Given the description of an element on the screen output the (x, y) to click on. 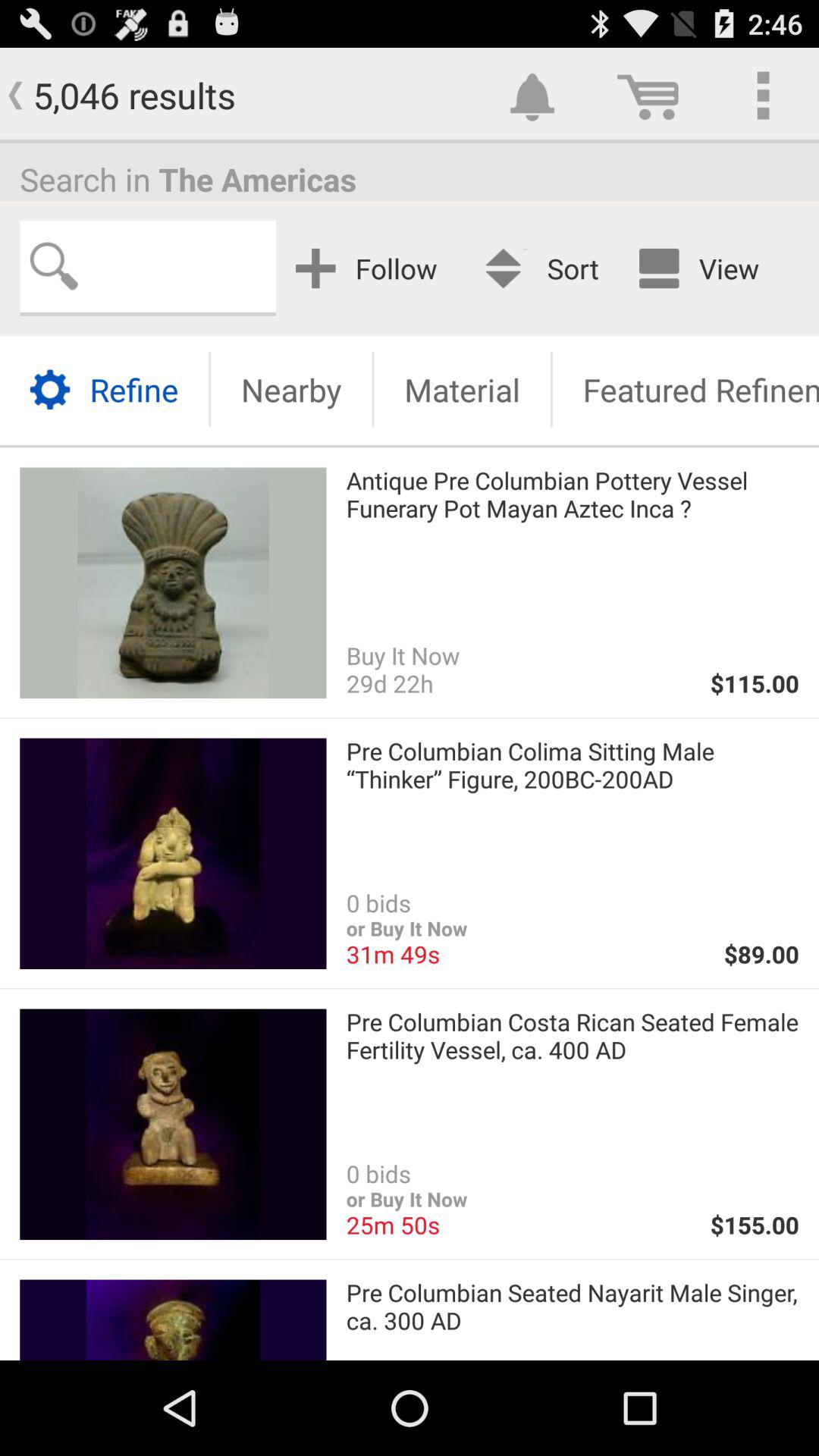
select follow (371, 268)
